Given the description of an element on the screen output the (x, y) to click on. 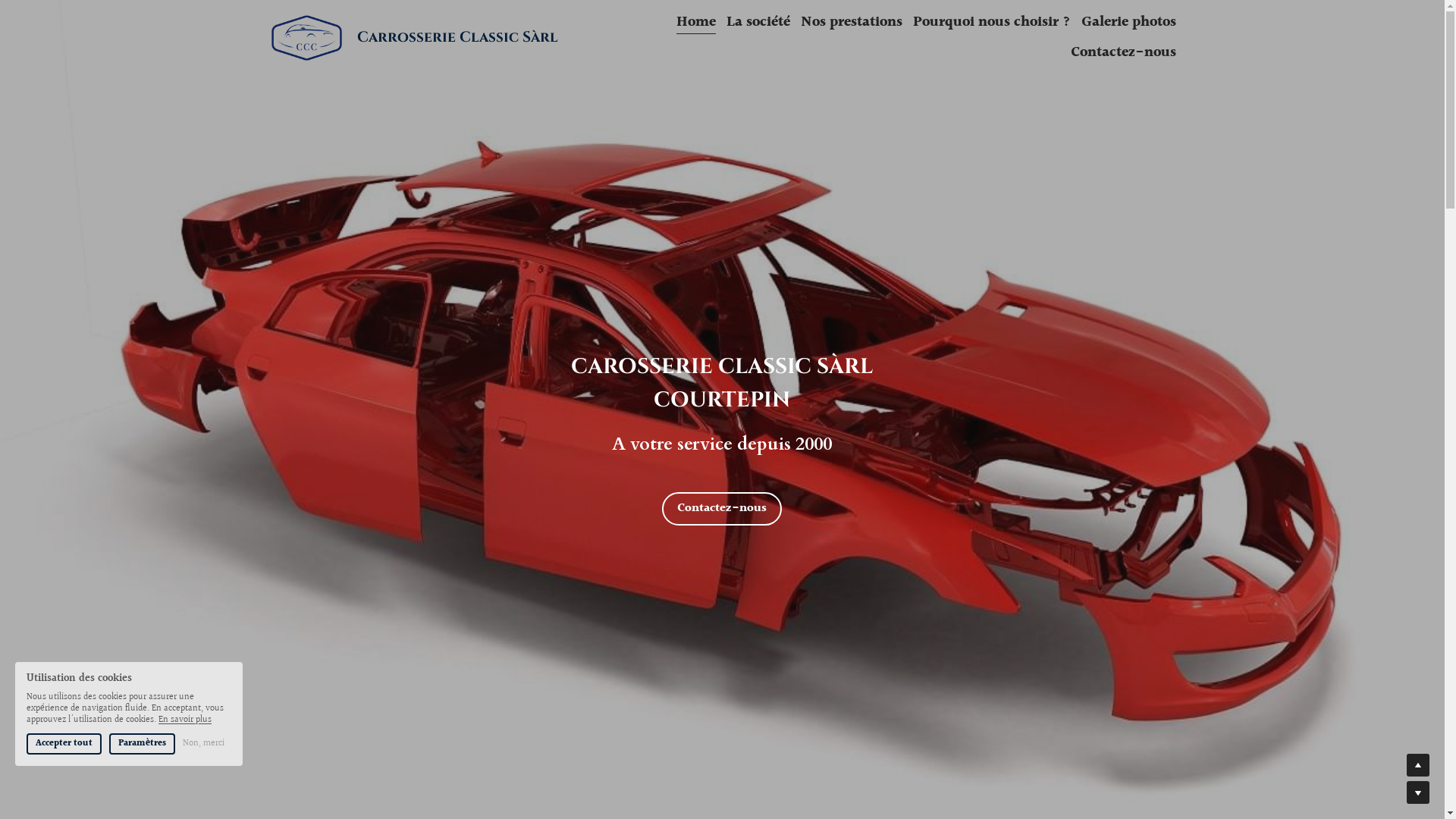
Home Element type: text (695, 22)
Pourquoi nous choisir ? Element type: text (991, 22)
Contactez-nous Element type: text (1123, 52)
Contactez-nous Element type: text (721, 508)
Nos prestations Element type: text (851, 22)
Galerie photos Element type: text (1128, 22)
En savoir plus Element type: text (184, 719)
